Given the description of an element on the screen output the (x, y) to click on. 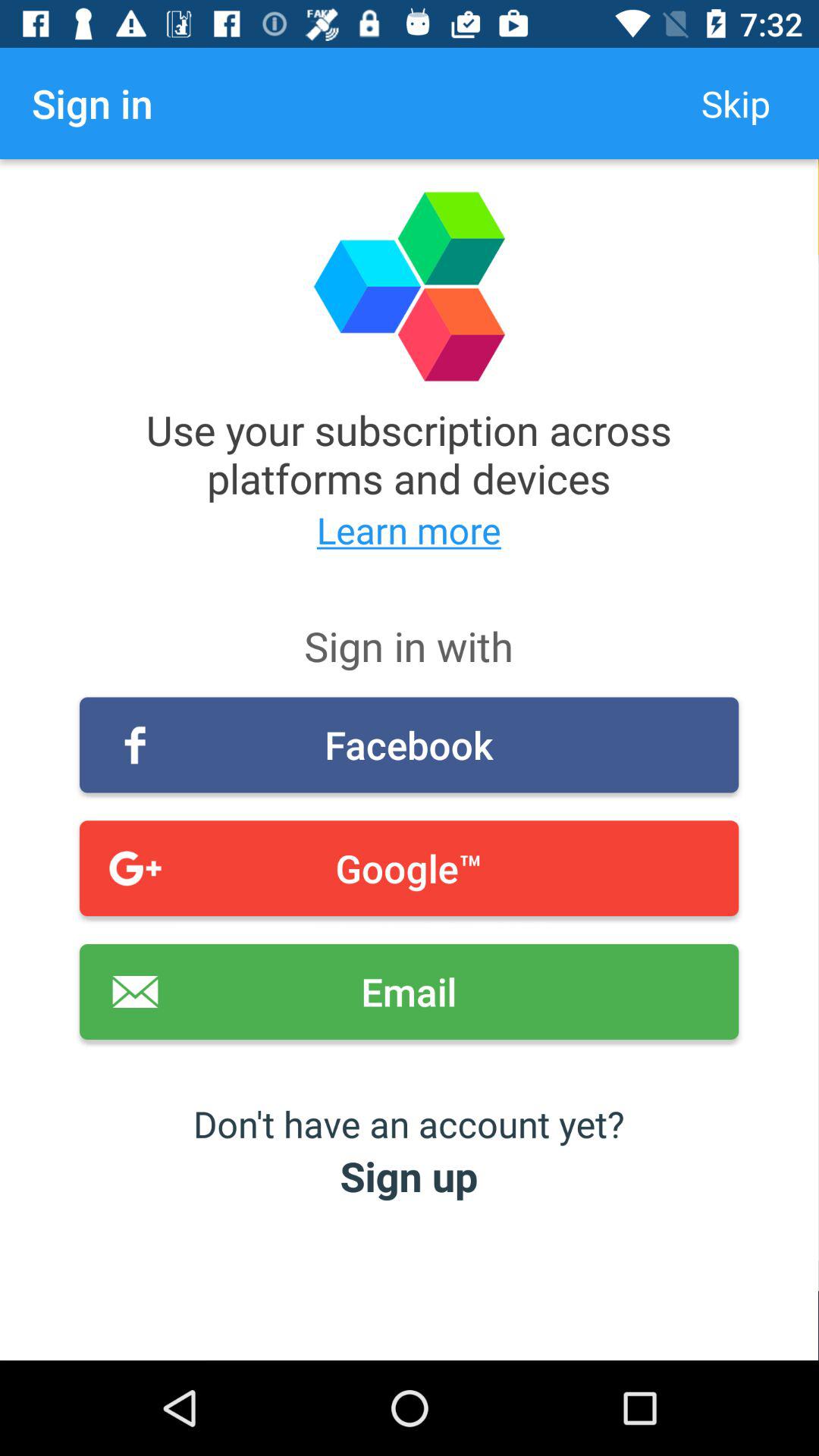
turn off item next to sign in icon (735, 103)
